Given the description of an element on the screen output the (x, y) to click on. 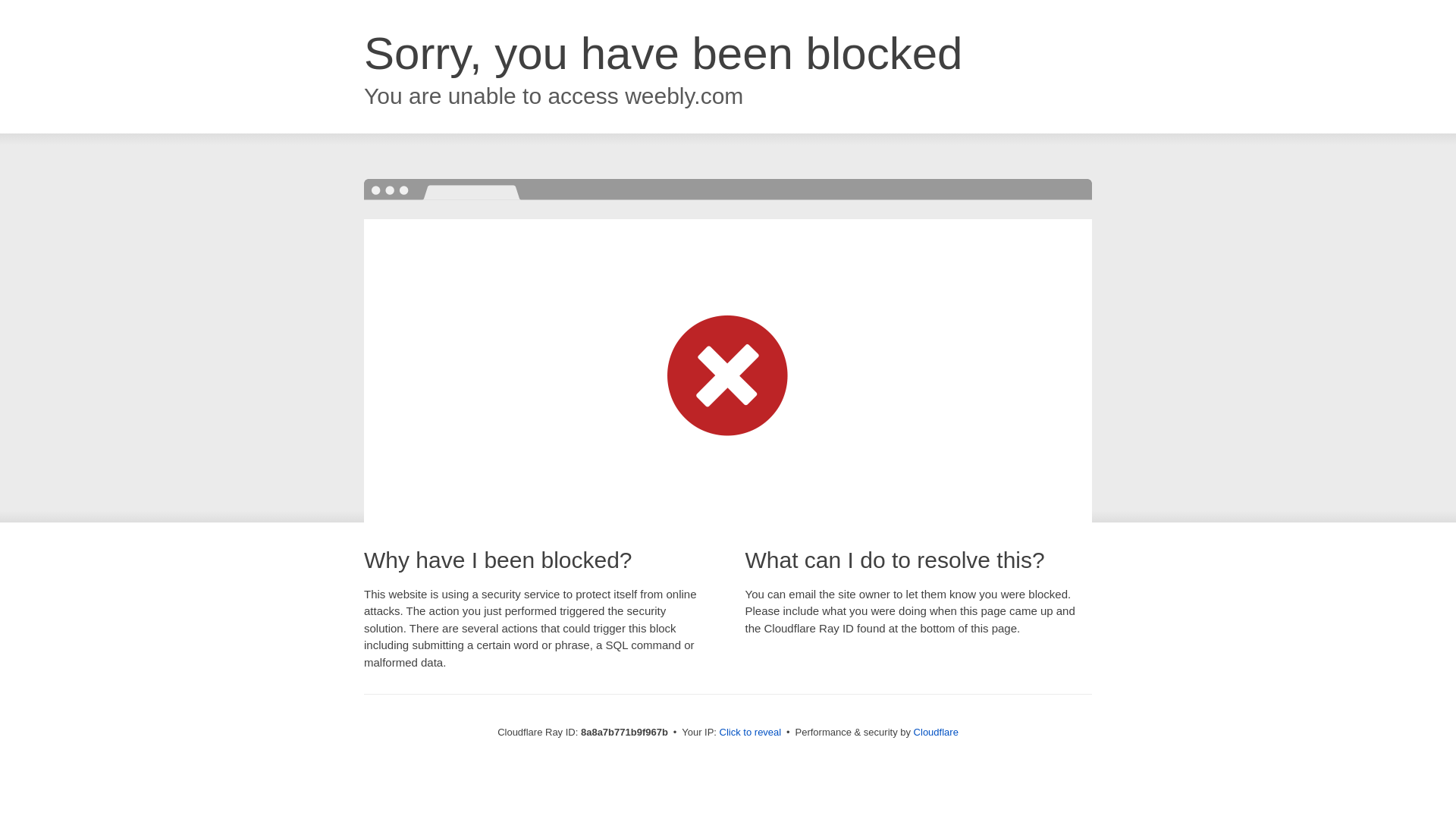
Cloudflare (936, 731)
Click to reveal (750, 732)
